Given the description of an element on the screen output the (x, y) to click on. 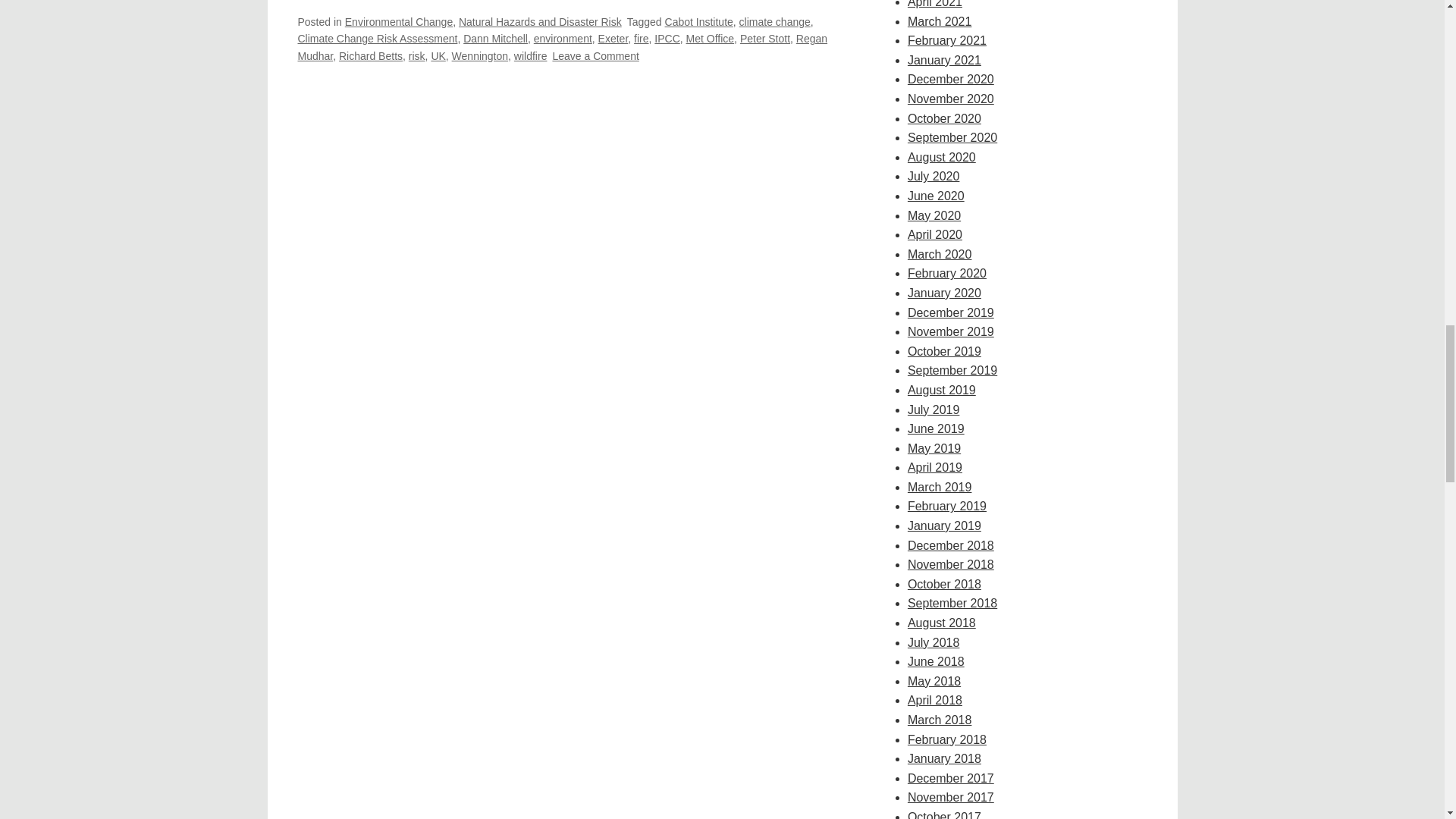
Peter Stott (764, 38)
UK (437, 55)
Regan Mudhar (562, 46)
fire (640, 38)
Climate Change Risk Assessment (377, 38)
Met Office (710, 38)
IPCC (666, 38)
climate change (774, 21)
Wennington (479, 55)
